Given the description of an element on the screen output the (x, y) to click on. 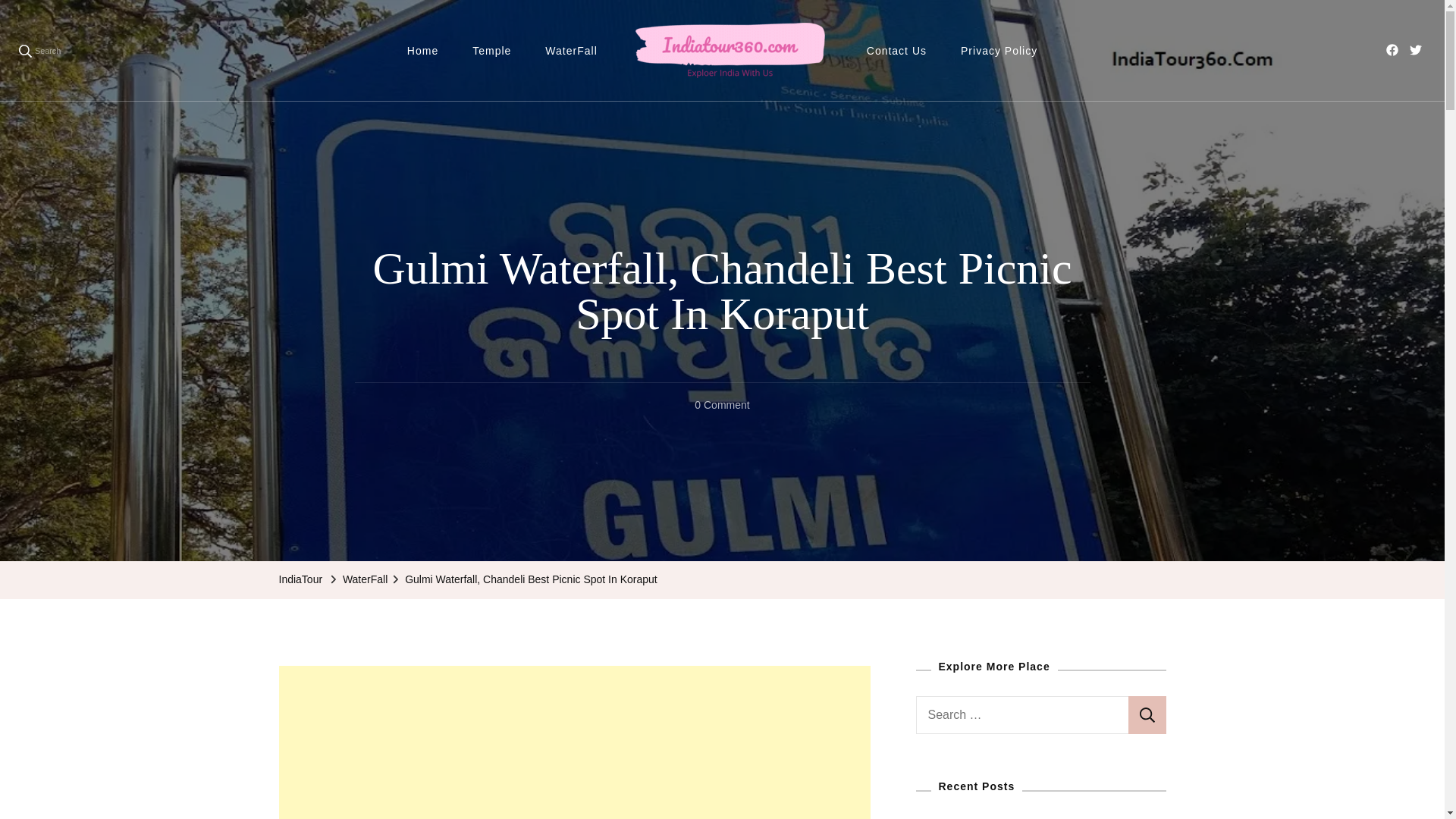
Advertisement (574, 742)
IndiaTour360 (701, 88)
Temple (491, 51)
IndiaTour (301, 579)
Search (1147, 714)
Privacy Policy (998, 51)
Contact Us (896, 51)
Search (39, 50)
Search (1147, 714)
WaterFall (570, 51)
Home (421, 51)
WaterFall (364, 579)
Gulmi Waterfall, Chandeli Best Picnic Spot In Koraput (531, 579)
